Given the description of an element on the screen output the (x, y) to click on. 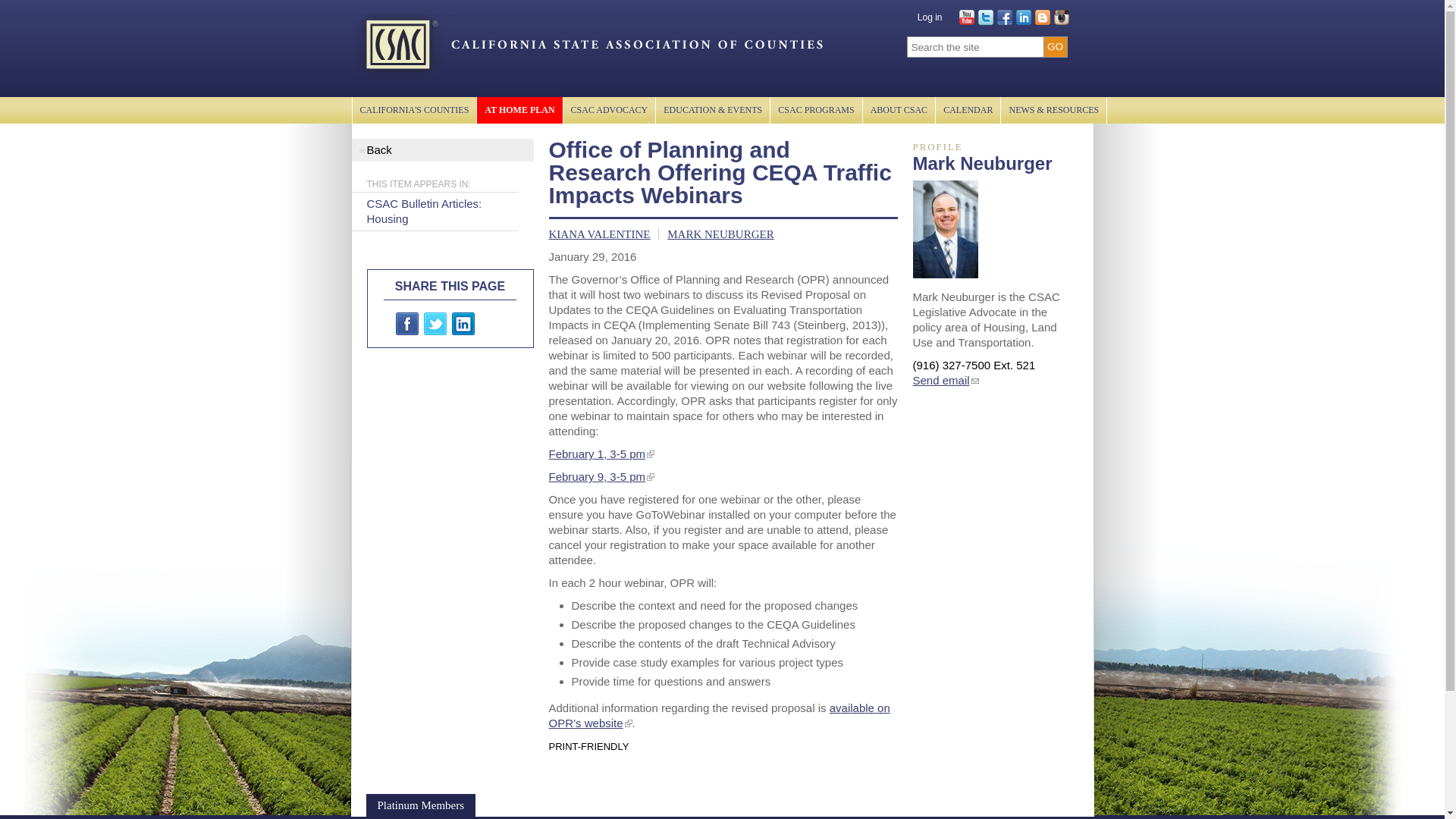
Search keywords (976, 46)
Member Portal Log-In (405, 6)
GO (1054, 46)
MARK NEUBURGER (719, 234)
California State Association of Counties home page (584, 42)
Log in (929, 17)
February 9, 3-5 pm (597, 476)
PRINT-FRIENDLY (588, 746)
February 1, 3-5 pm (597, 453)
Log in (929, 17)
KIANA VALENTINE (599, 234)
